Given the description of an element on the screen output the (x, y) to click on. 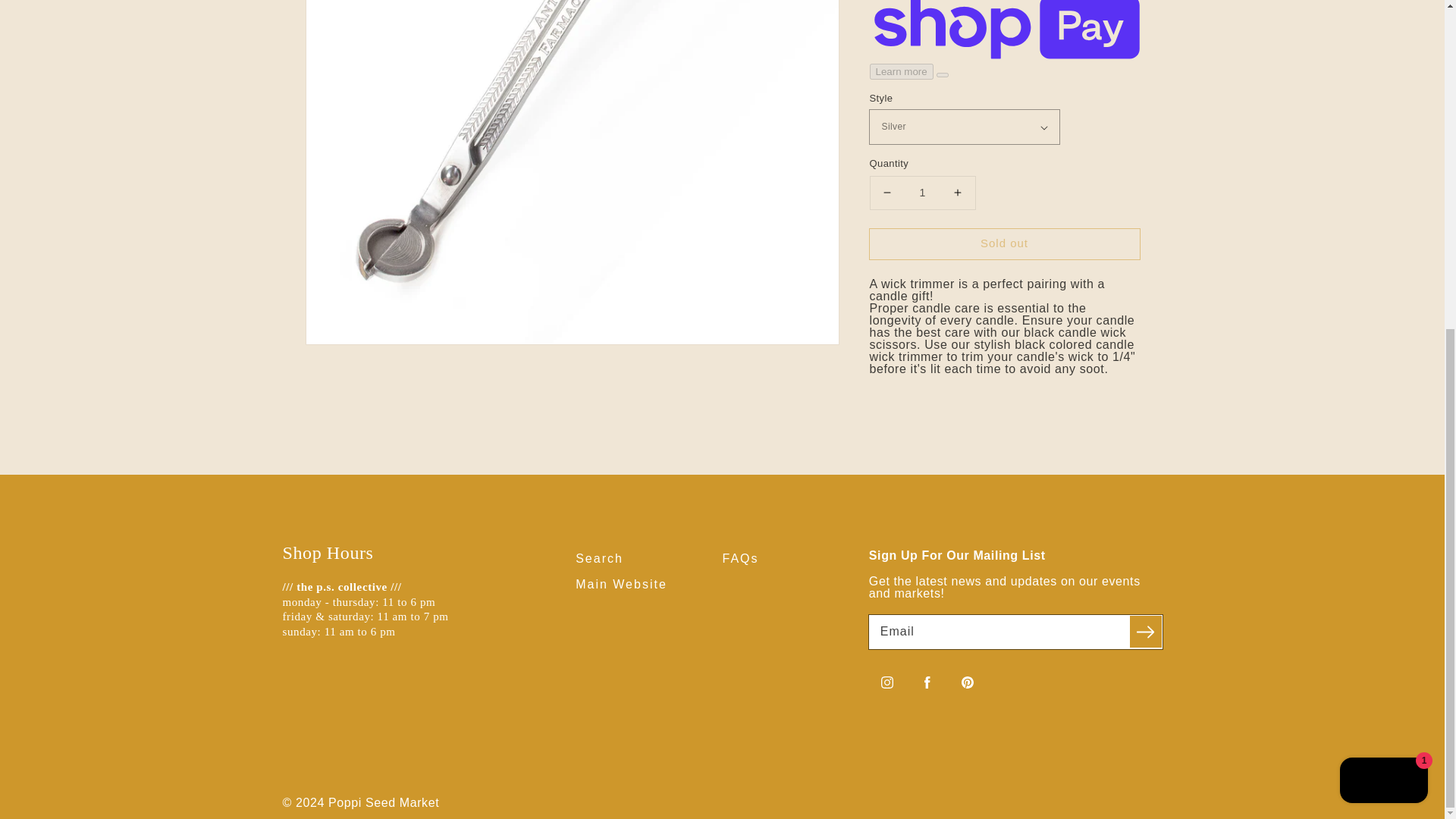
Shopify online store chat (1383, 238)
1 (922, 63)
